Given the description of an element on the screen output the (x, y) to click on. 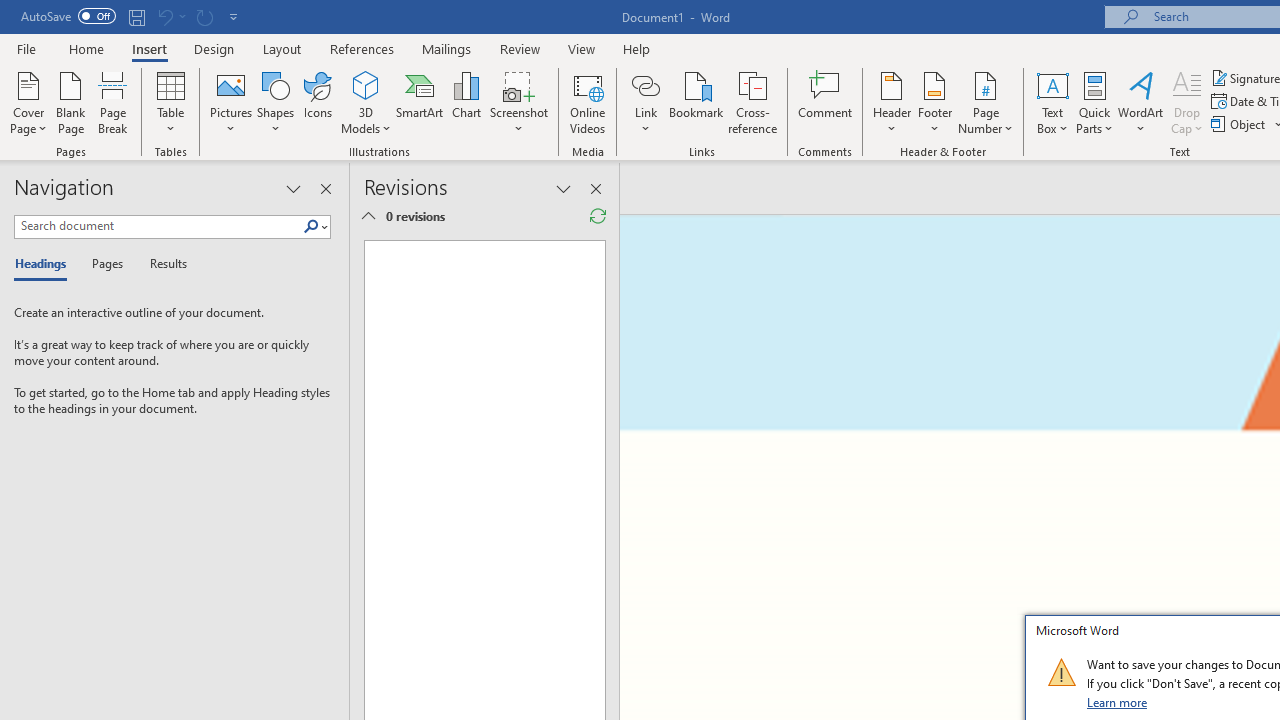
Headings (45, 264)
3D Models (366, 102)
Search document (157, 226)
Drop Cap (1187, 102)
Refresh Reviewing Pane (597, 215)
Can't Repeat (204, 15)
Page Break (113, 102)
Online Videos... (588, 102)
